Given the description of an element on the screen output the (x, y) to click on. 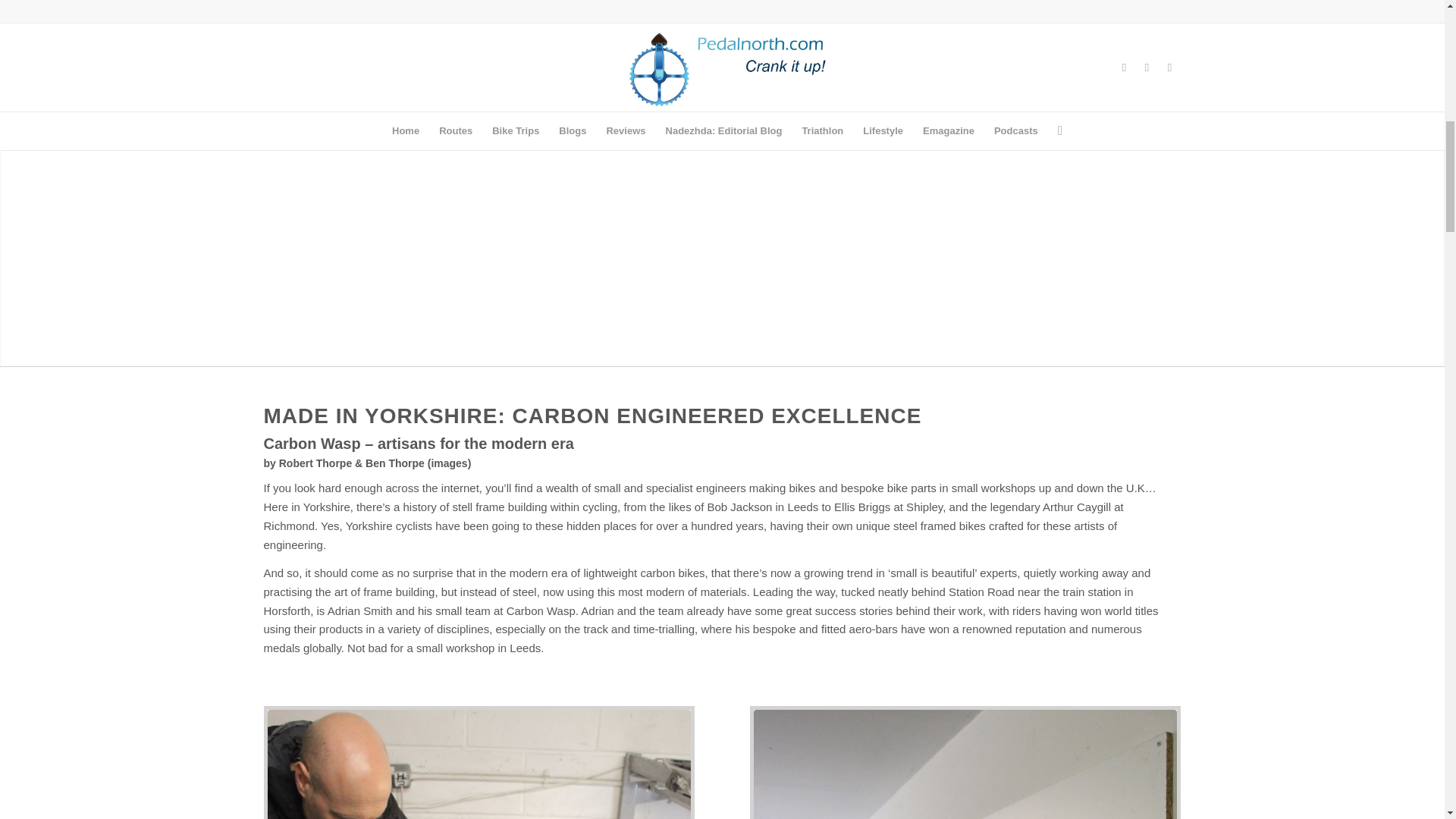
Carbon Wasp 9 (965, 764)
Carbon Wasp 1 (478, 764)
